Given the description of an element on the screen output the (x, y) to click on. 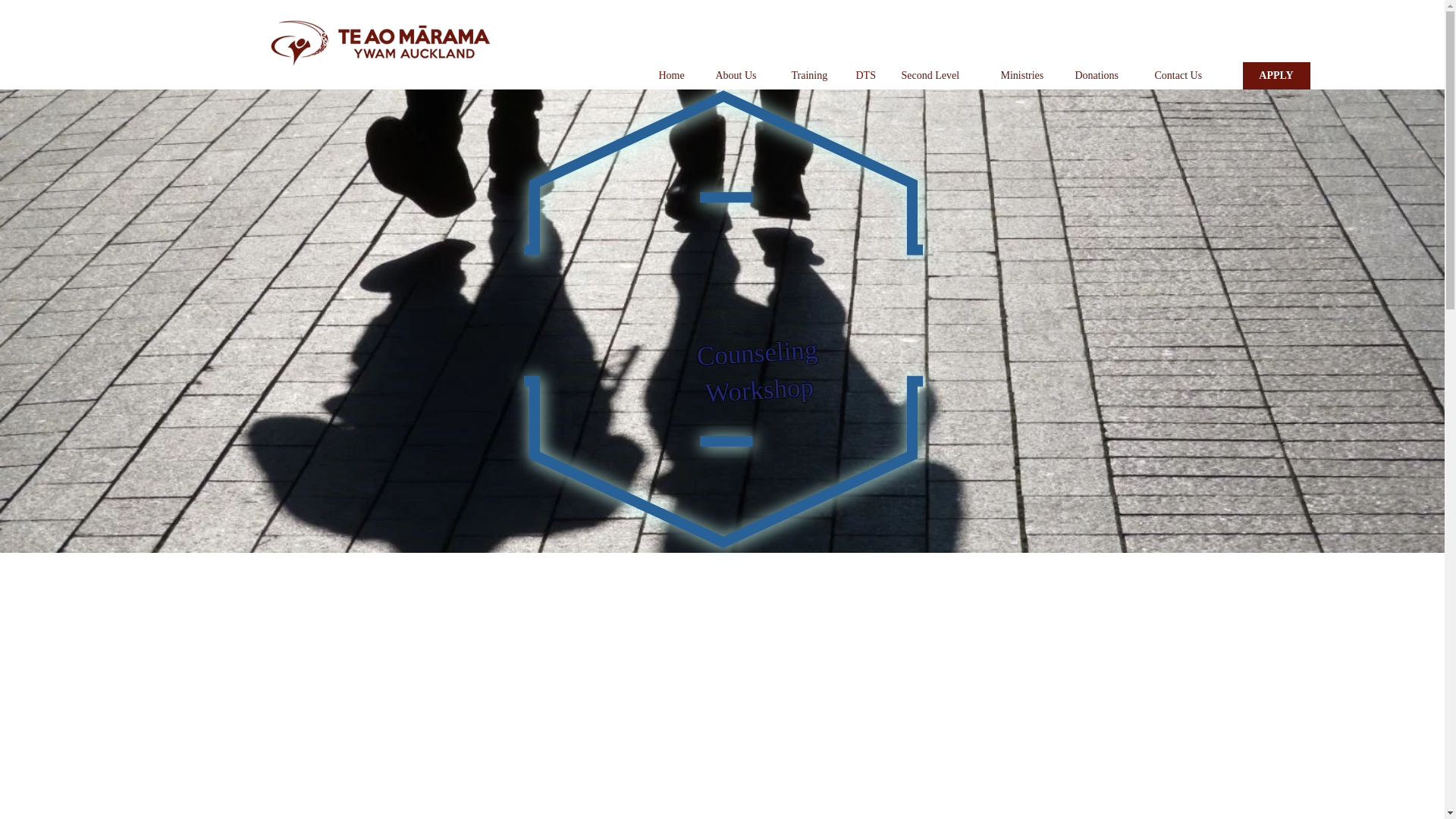
Contact Us (1184, 75)
Donations (1102, 75)
APPLY (1274, 75)
Ministries (1025, 75)
Training (811, 75)
Second Level (938, 75)
Home (674, 75)
DTS (865, 75)
About Us (740, 75)
